Given the description of an element on the screen output the (x, y) to click on. 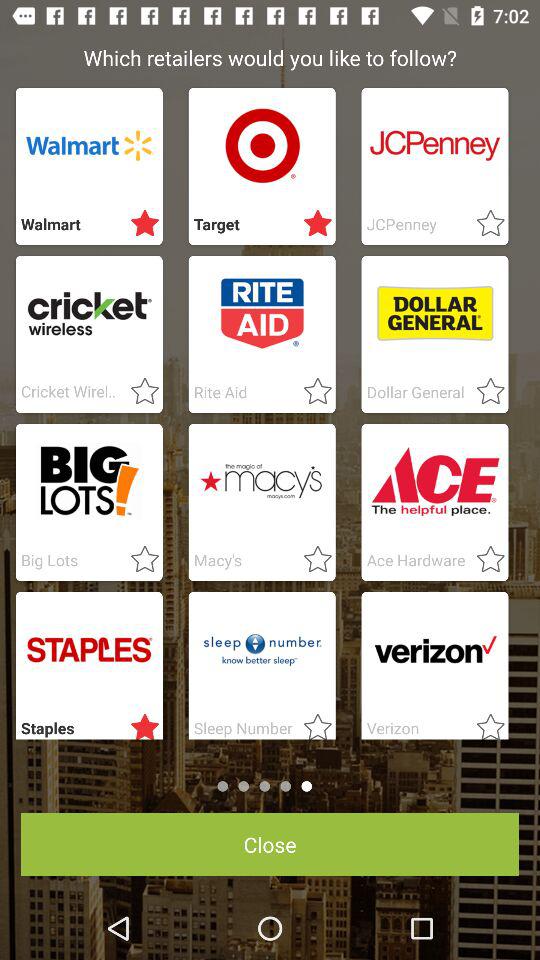
to make verizon as favorite retailer (484, 723)
